Given the description of an element on the screen output the (x, y) to click on. 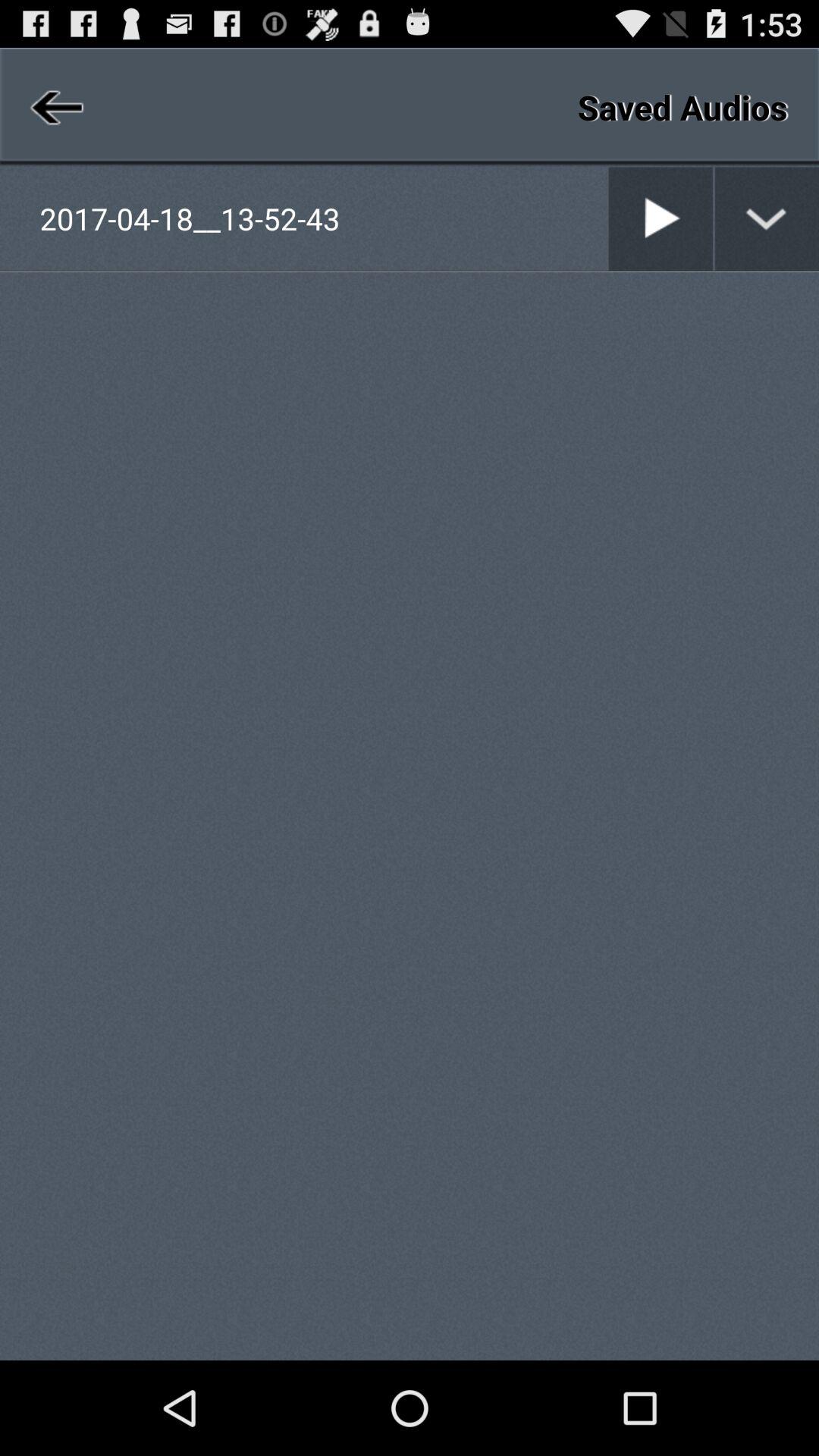
play audio (660, 218)
